Given the description of an element on the screen output the (x, y) to click on. 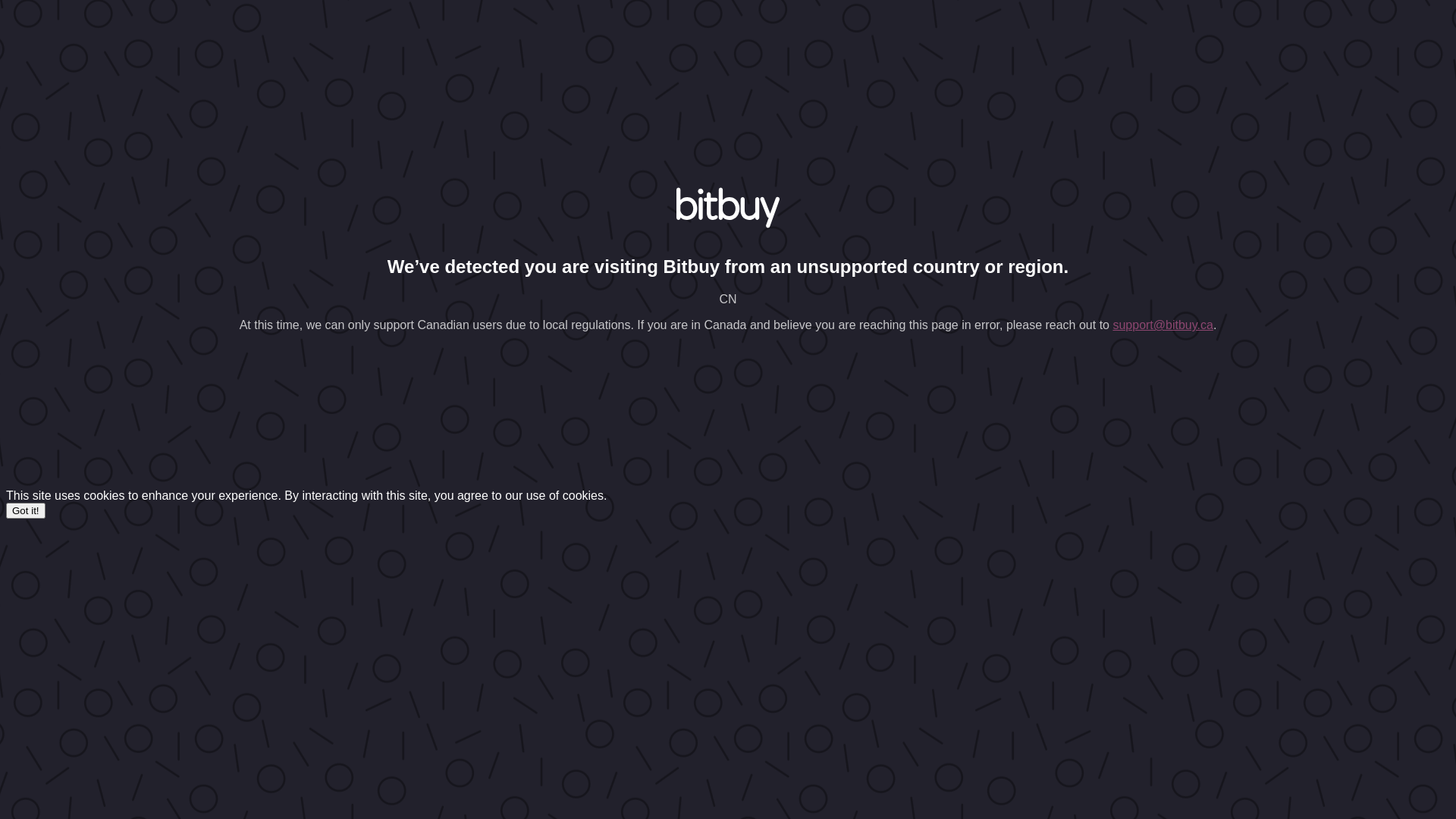
support@bitbuy.ca Element type: text (1162, 324)
Got it! Element type: text (25, 510)
